Given the description of an element on the screen output the (x, y) to click on. 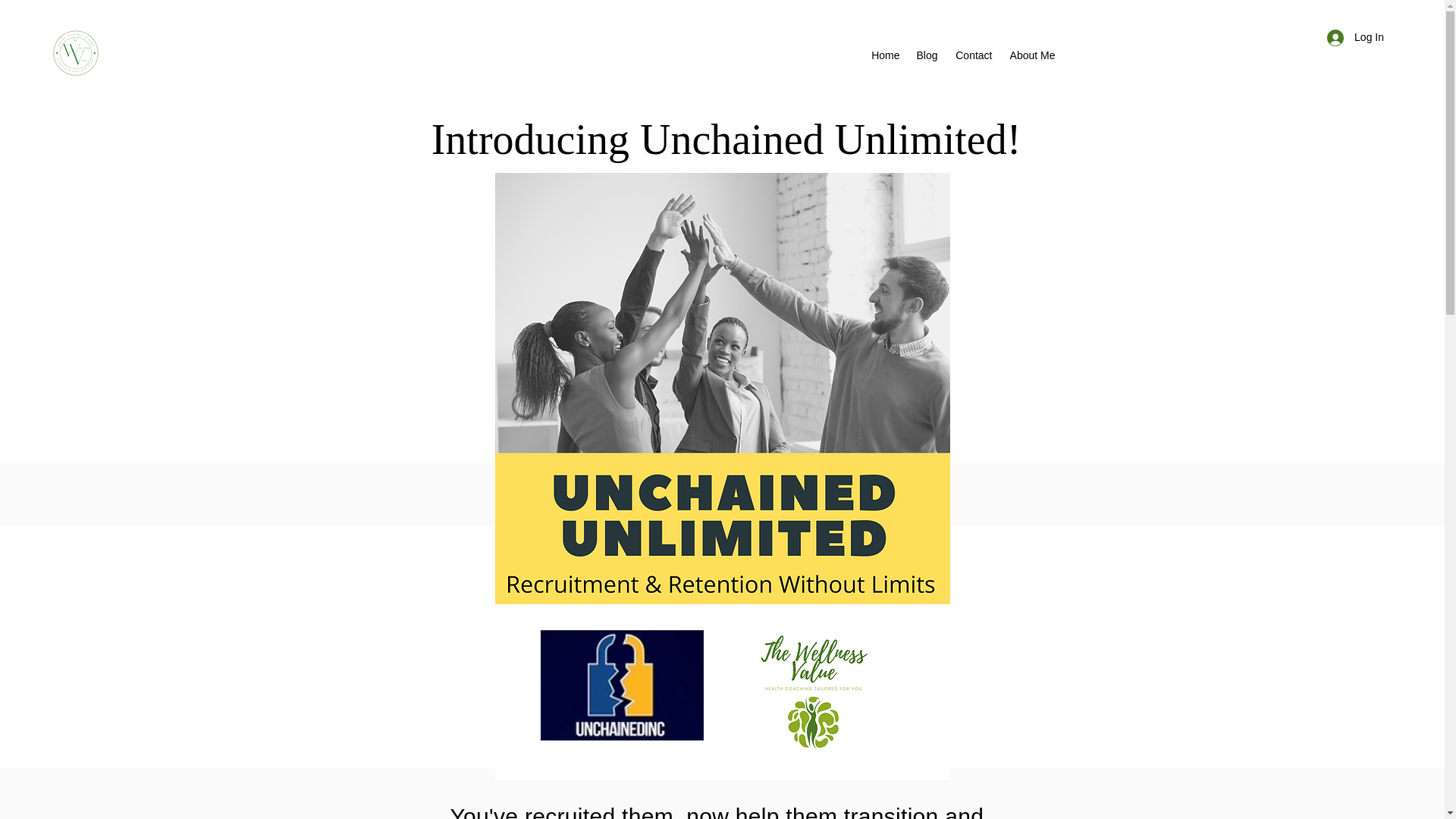
Home (885, 54)
About Me (1030, 54)
Contact (971, 54)
Log In (1355, 37)
Blog (925, 54)
